Given the description of an element on the screen output the (x, y) to click on. 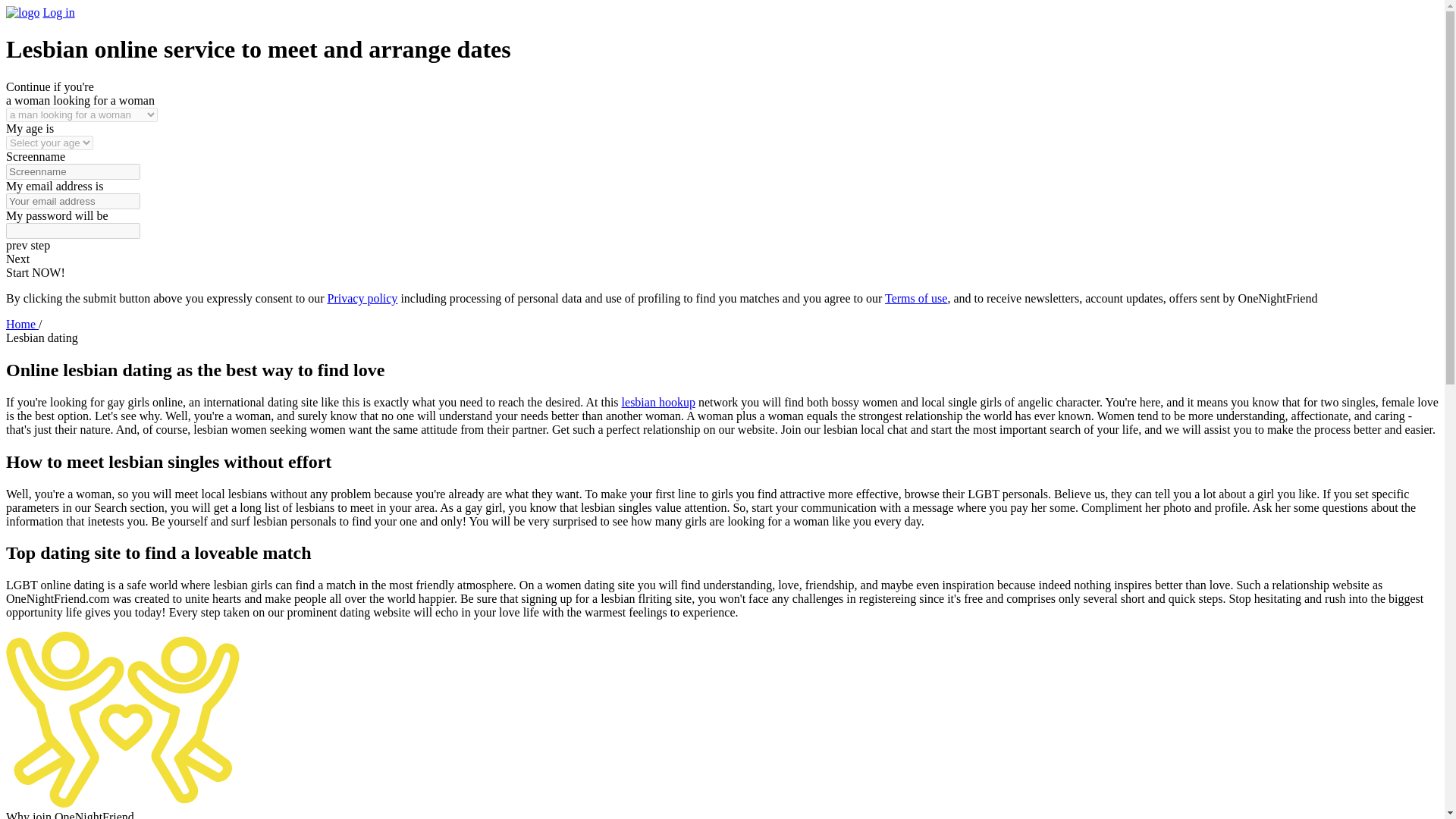
Log in (58, 11)
lesbian hookup (658, 401)
Terms of use (916, 297)
Home (22, 323)
Privacy policy (362, 297)
